Given the description of an element on the screen output the (x, y) to click on. 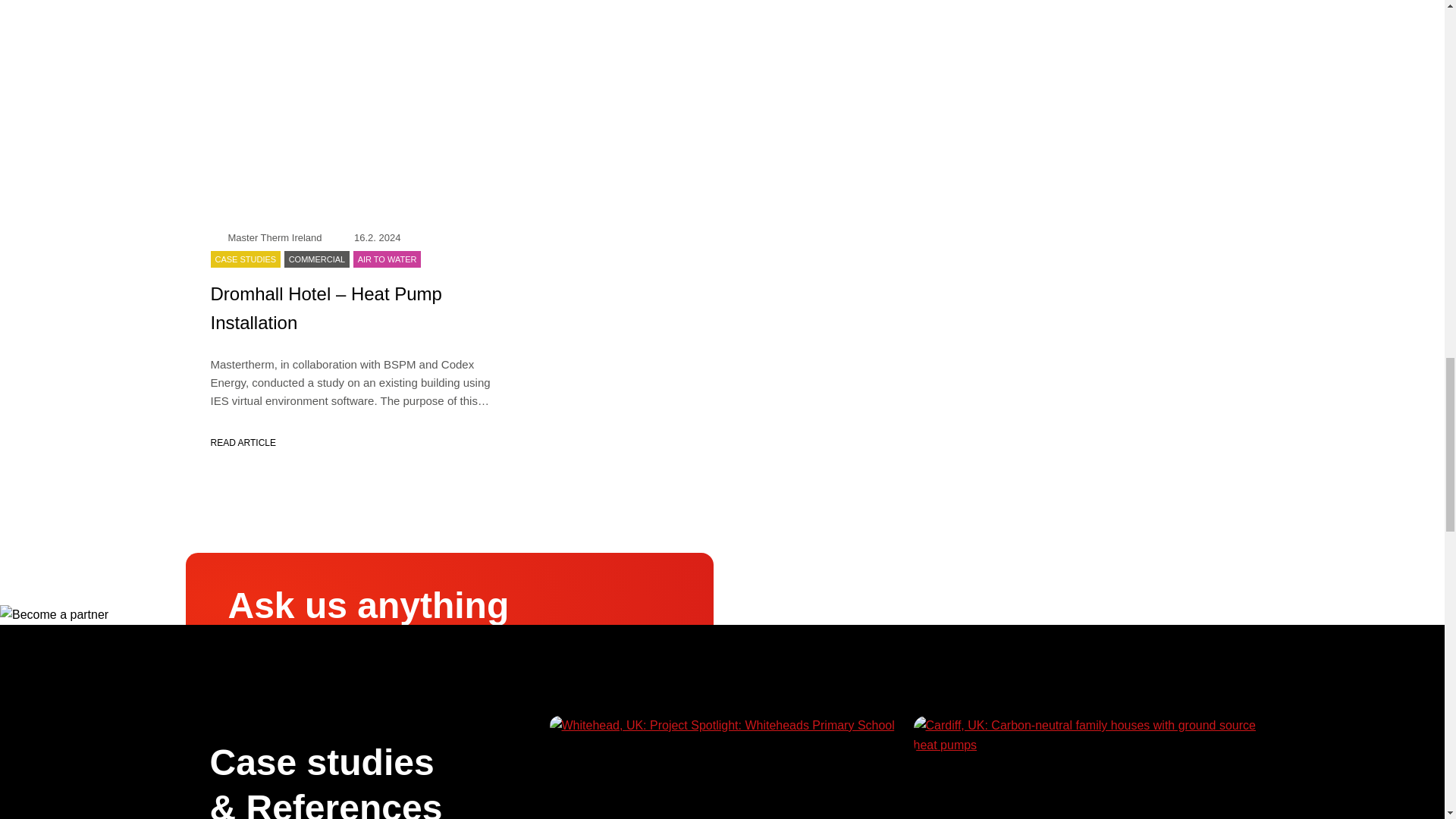
I WANT TO LEAVE A MESSAGE (330, 760)
READ ARTICLE (358, 442)
